Given the description of an element on the screen output the (x, y) to click on. 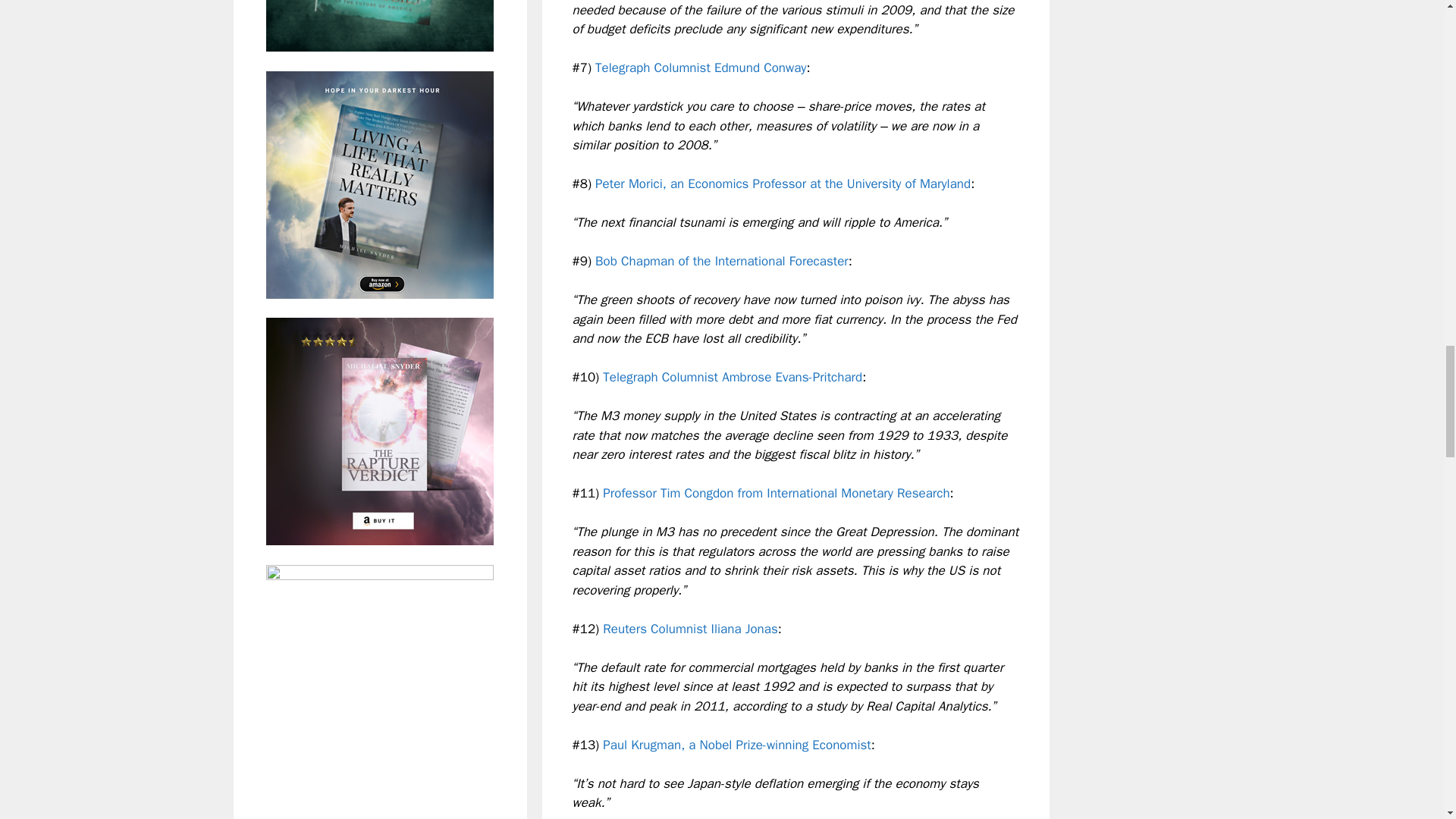
Telegraph Columnist Edmund Conway (700, 67)
Telegraph Columnist Ambrose Evans-Pritchard (731, 376)
Bob Chapman of the International Forecaster (721, 261)
Professor Tim Congdon from International Monetary Research (775, 493)
Reuters Columnist Iliana Jonas (689, 628)
Telegraph Columnist Edmund Conway (700, 67)
Bob Chapman of the International Forecaster (721, 261)
Telegraph Columnist Ambrose Evans-Pritchard (731, 376)
